Given the description of an element on the screen output the (x, y) to click on. 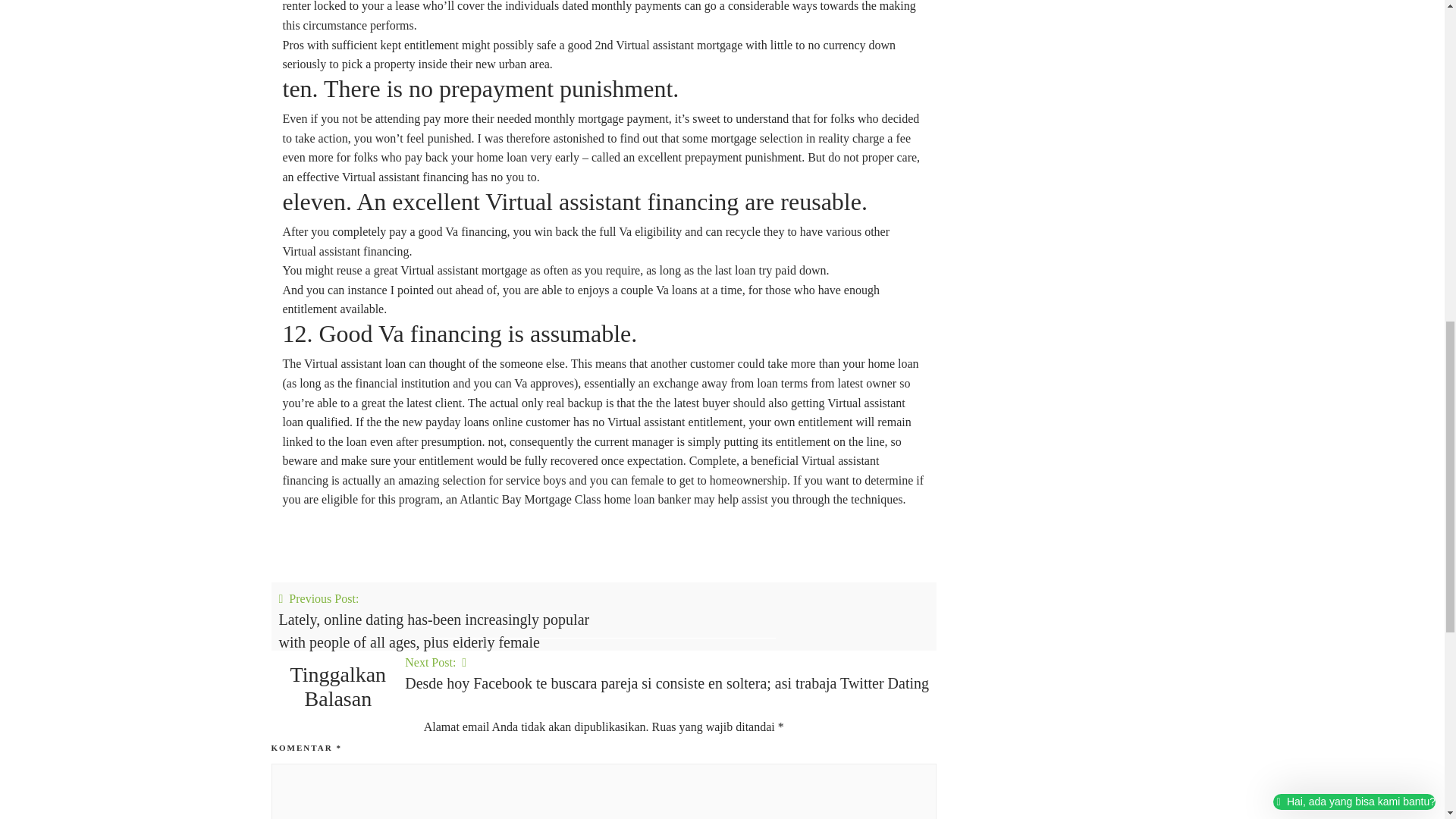
payday loans online (473, 421)
